Given the description of an element on the screen output the (x, y) to click on. 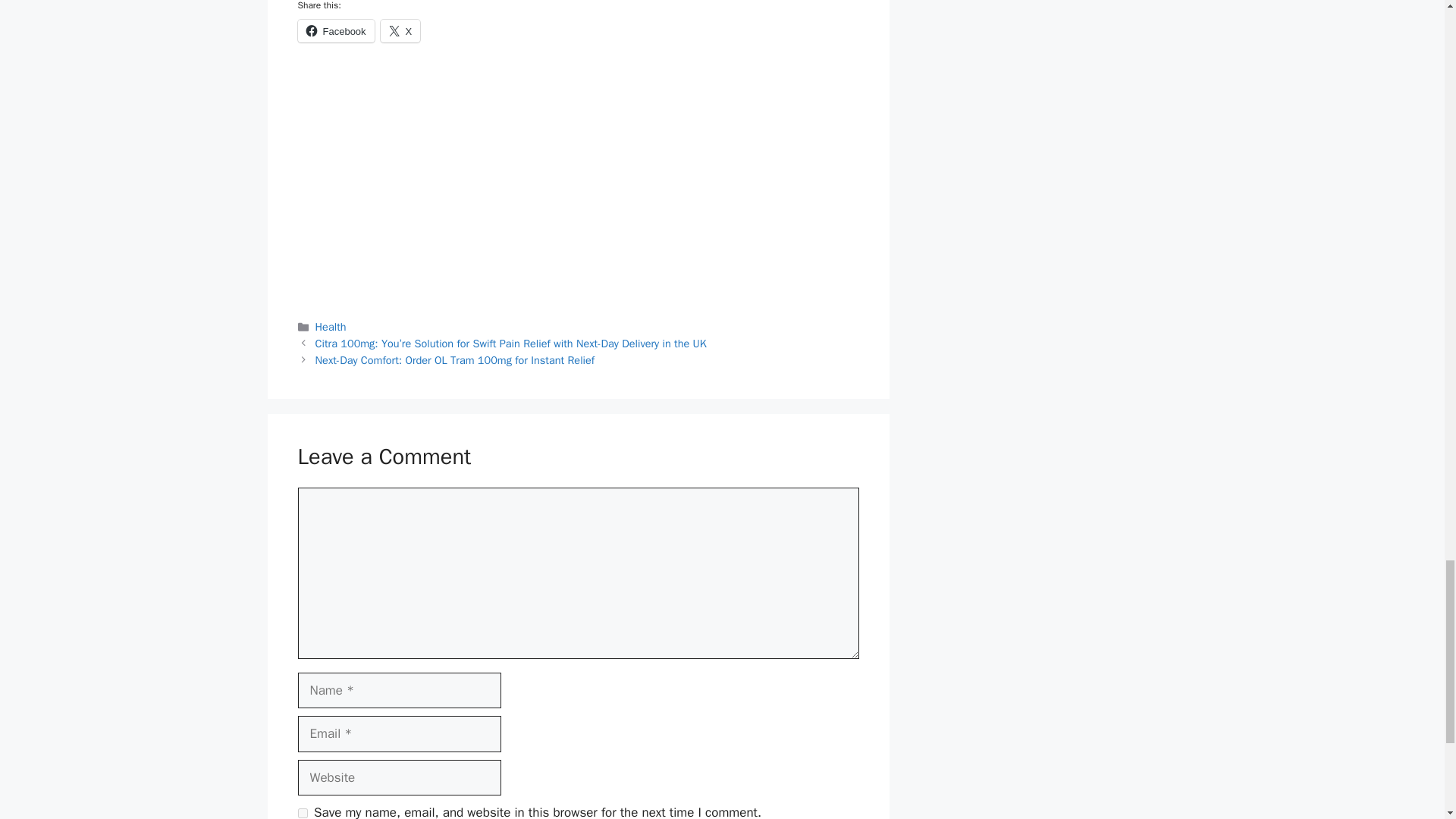
yes (302, 813)
Click to share on Facebook (335, 30)
Click to share on X (400, 30)
Facebook (335, 30)
X (400, 30)
Health (330, 326)
Next-Day Comfort: Order OL Tram 100mg for Instant Relief (455, 359)
